Given the description of an element on the screen output the (x, y) to click on. 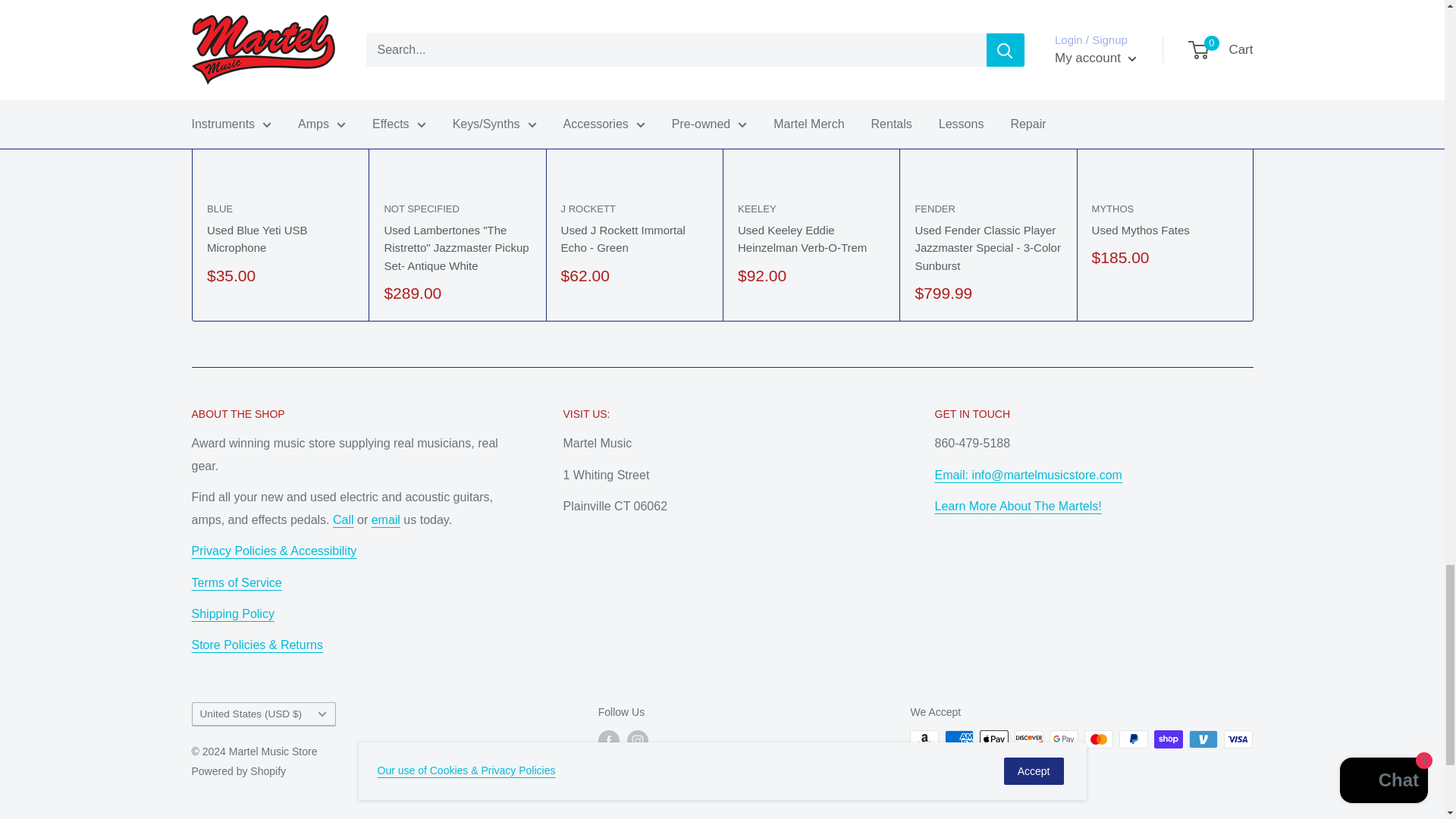
Privacy Policy (273, 550)
Terms of Service (235, 582)
Shipping Policy (231, 613)
About Us (255, 644)
